Given the description of an element on the screen output the (x, y) to click on. 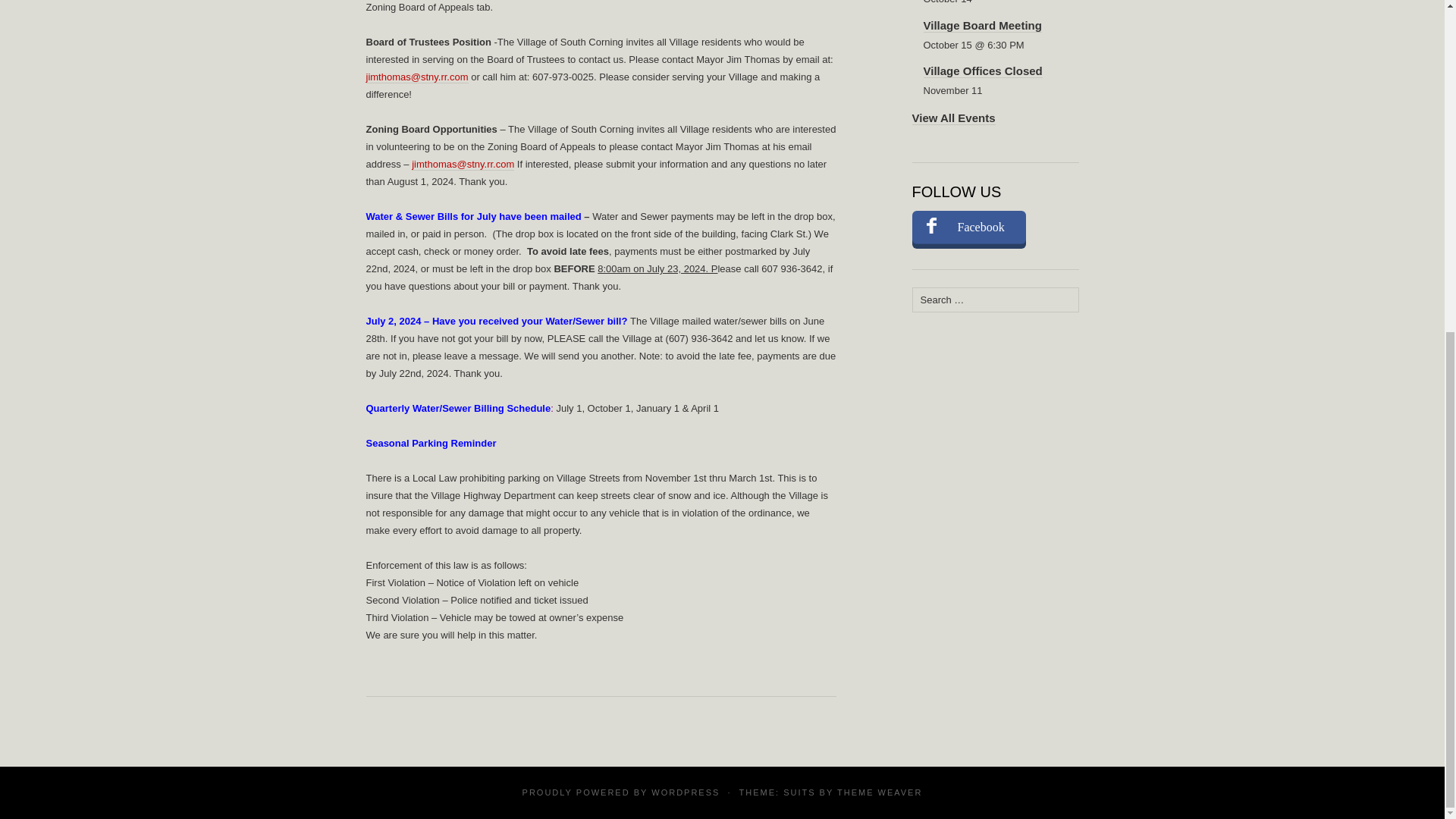
View All Events (952, 117)
Facebook (968, 227)
THEME WEAVER (879, 791)
Semantic Personal Publishing Platform (684, 791)
Village Offices Closed (982, 70)
Theme Developer (879, 791)
Village Board Meeting (982, 24)
WORDPRESS (684, 791)
